Given the description of an element on the screen output the (x, y) to click on. 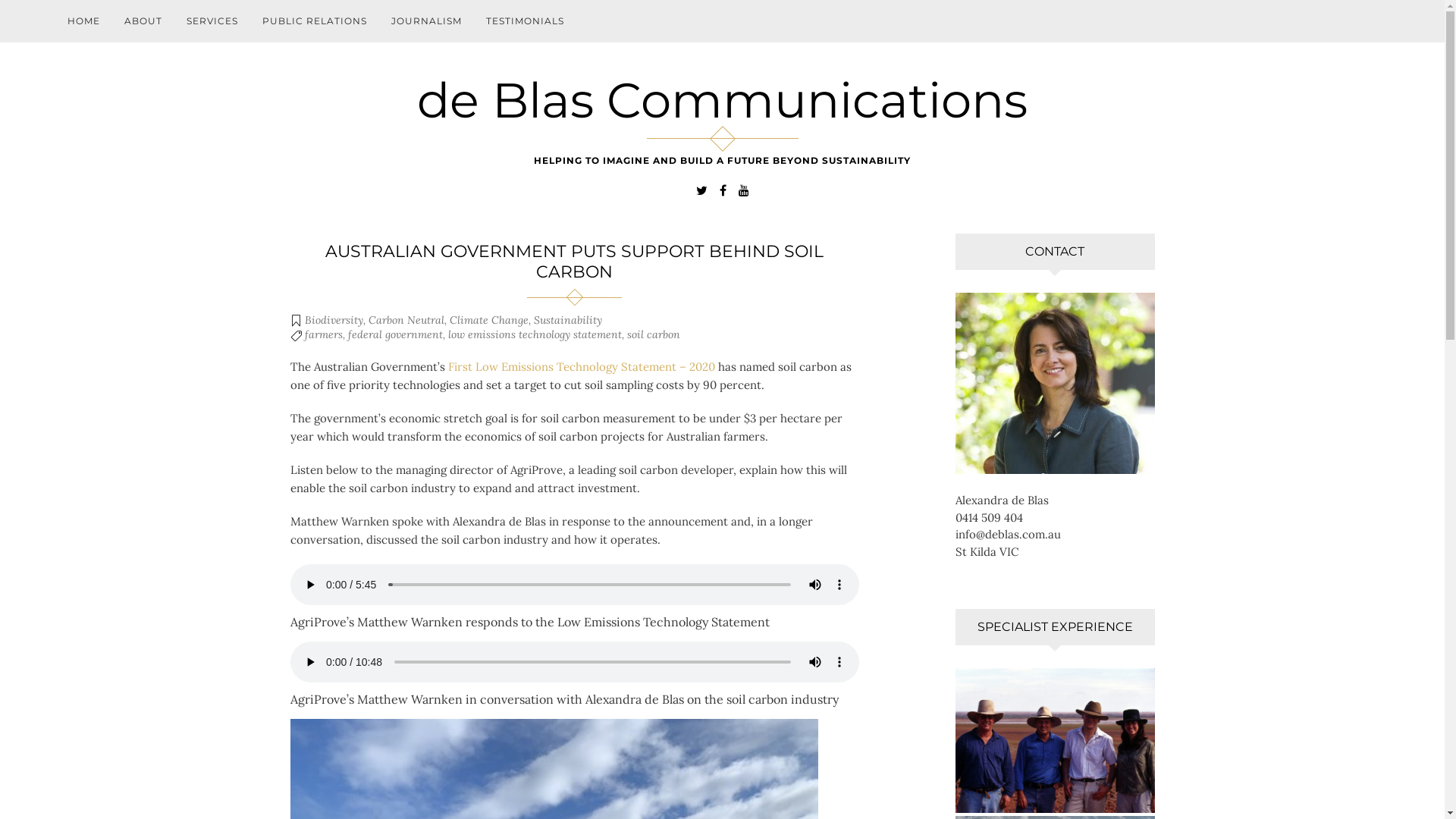
farmers Element type: text (323, 334)
Carbon Neutral Element type: text (406, 319)
PUBLIC RELATIONS Element type: text (314, 21)
ABOUT Element type: text (142, 21)
TESTIMONIALS Element type: text (524, 21)
Biodiversity Element type: text (333, 319)
HOME Element type: text (83, 21)
JOURNALISM Element type: text (426, 21)
low emissions technology statement Element type: text (534, 334)
de Blas Communications Element type: text (722, 99)
federal government Element type: text (394, 334)
SERVICES Element type: text (211, 21)
soil carbon Element type: text (652, 334)
Sustainability Element type: text (567, 319)
Climate Change Element type: text (487, 319)
